Given the description of an element on the screen output the (x, y) to click on. 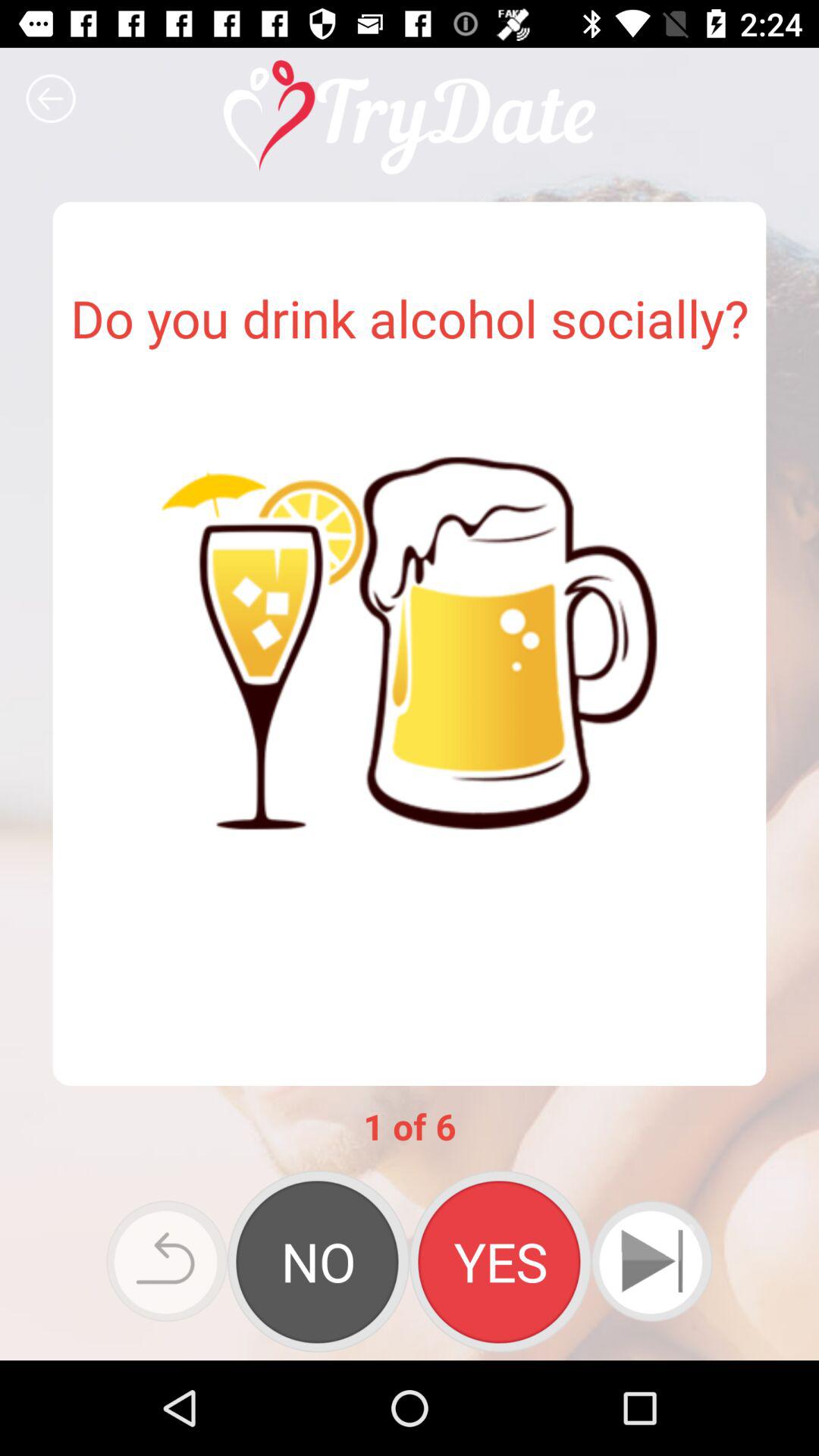
go back (50, 98)
